Given the description of an element on the screen output the (x, y) to click on. 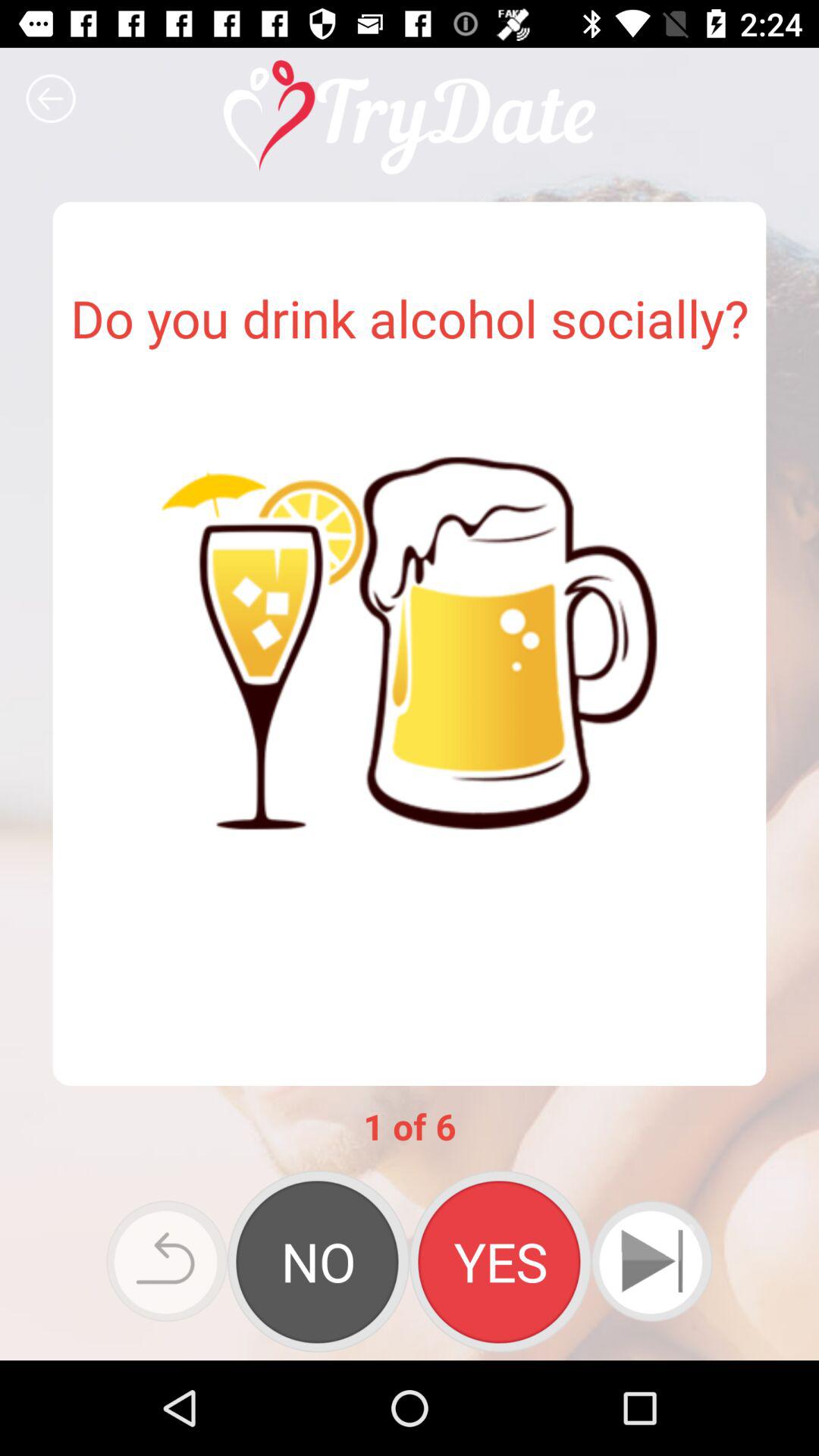
go back (50, 98)
